Given the description of an element on the screen output the (x, y) to click on. 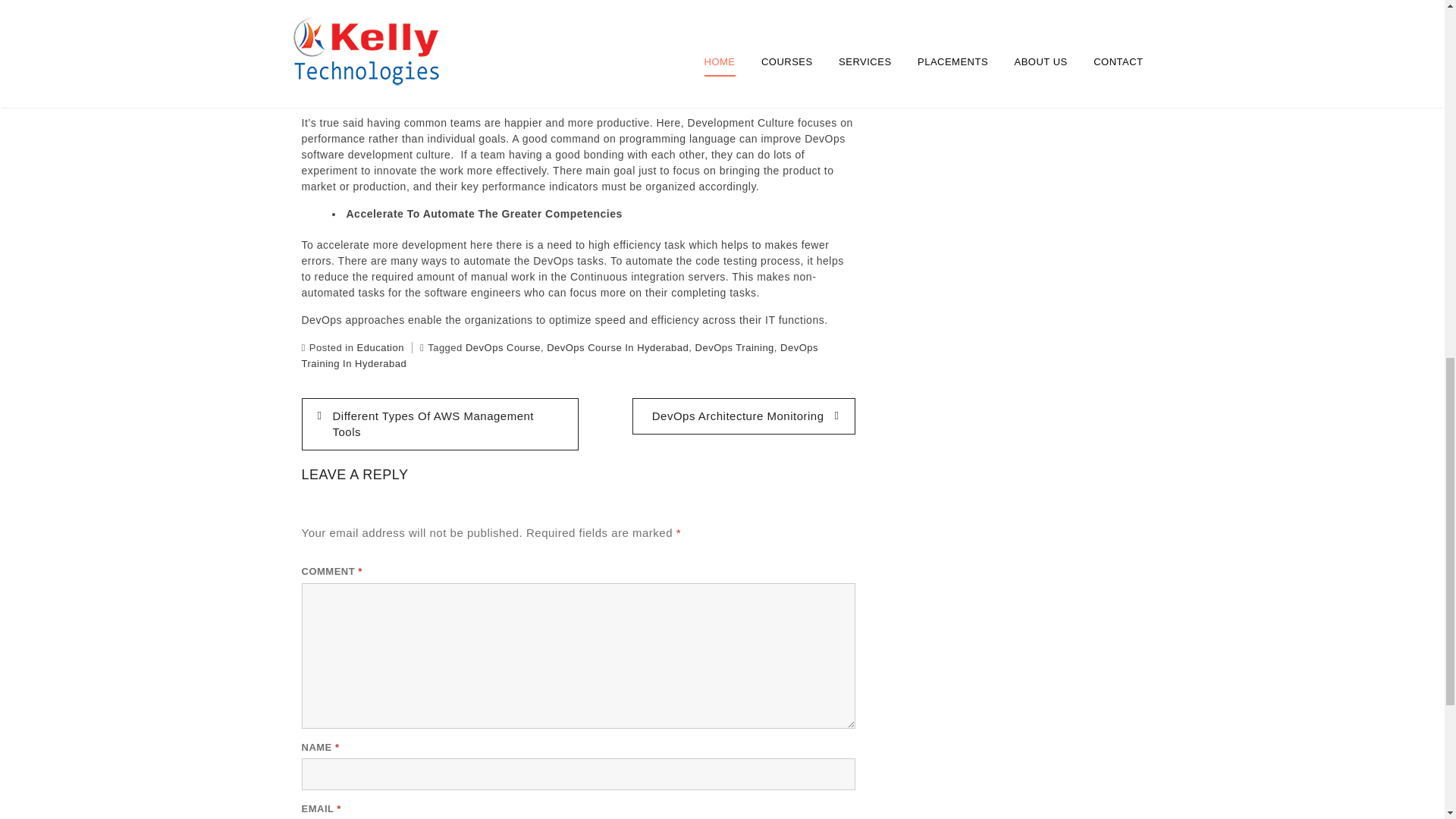
DevOps Architecture Monitoring (743, 416)
DevOps Training (734, 347)
DevOps Training In Hyderabad (559, 355)
Education (380, 347)
DevOps Course (502, 347)
DevOps Course In Hyderabad (617, 347)
Different Types Of AWS Management Tools (439, 424)
